Given the description of an element on the screen output the (x, y) to click on. 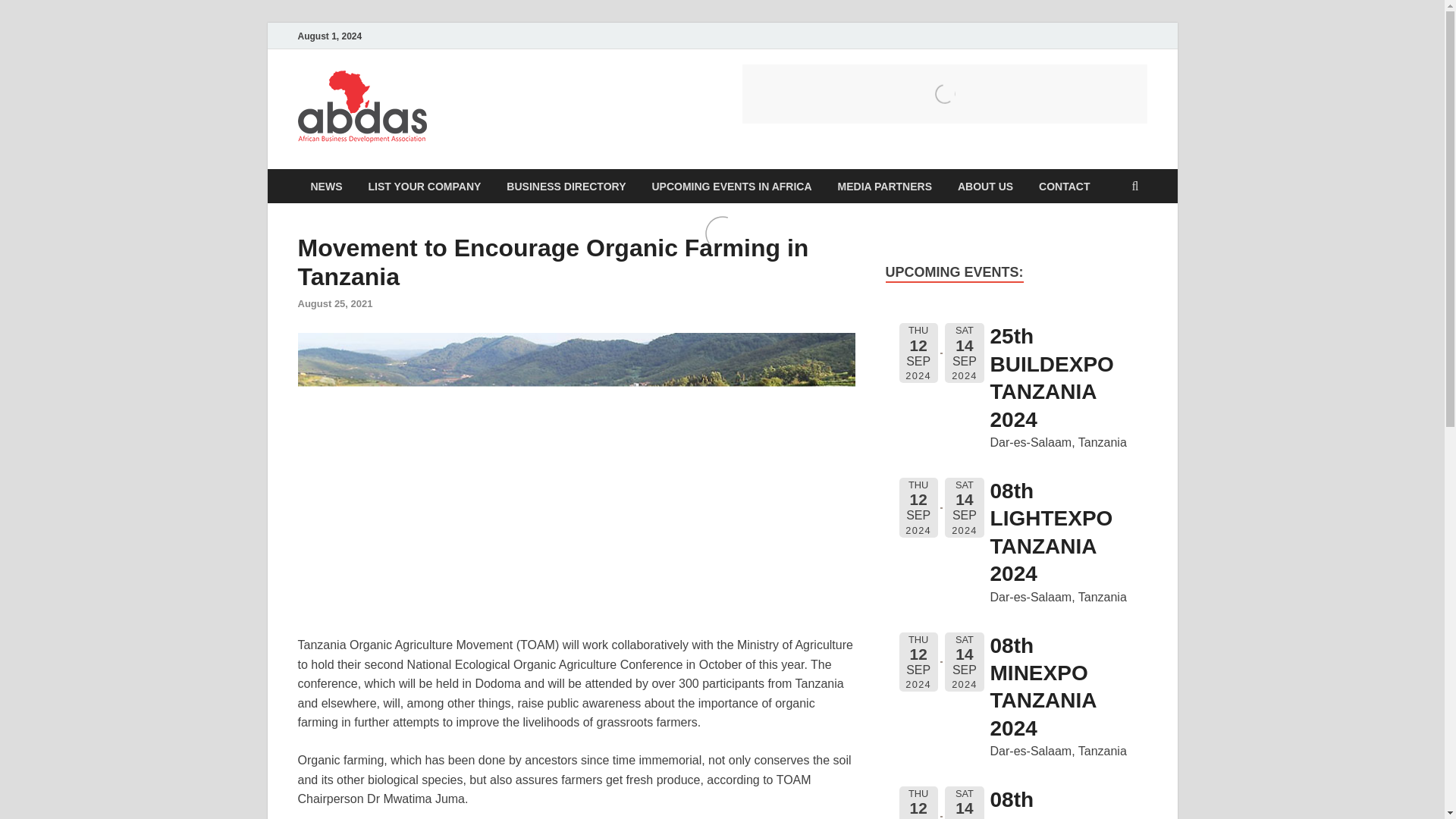
25th BUILDEXPO TANZANIA 2024 (1051, 377)
MEDIA PARTNERS (884, 185)
CONTACT (1064, 185)
August 25, 2021 (334, 303)
08th MINEXPO TANZANIA 2024 (1043, 686)
UPCOMING EVENTS IN AFRICA (731, 185)
NEWS (326, 185)
BUSINESS DIRECTORY (566, 185)
LIST YOUR COMPANY (424, 185)
08th LIGHTEXPO TANZANIA 2024 (1051, 532)
Foodagro Africa (944, 93)
08th AFRIWOOD TANZANIA 2024 (1049, 803)
ABOUT US (985, 185)
